Given the description of an element on the screen output the (x, y) to click on. 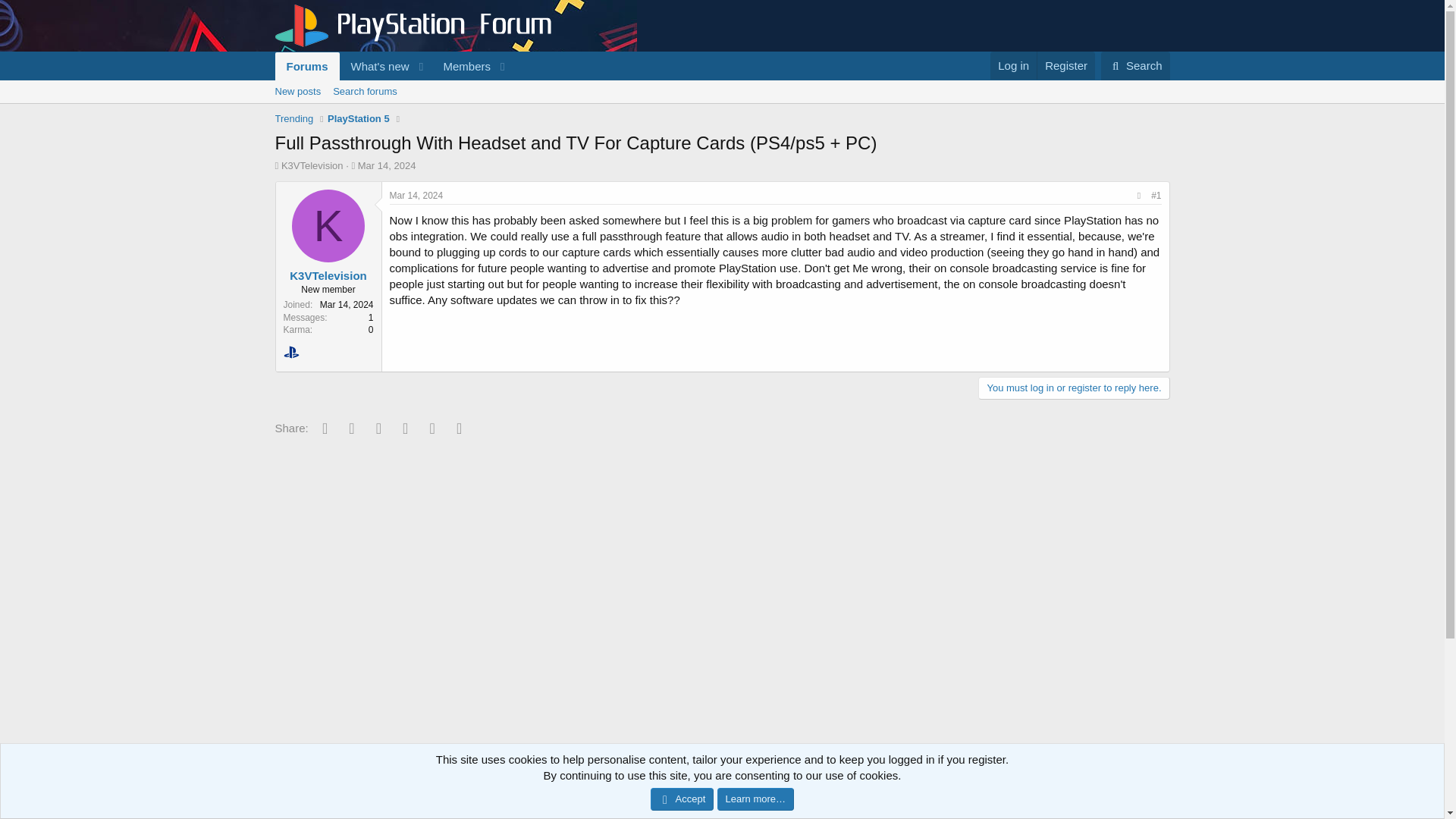
K3VTelevision (327, 275)
Mar 14, 2024 at 7:41 AM (417, 195)
Search forums (364, 91)
Log in (392, 66)
Members (1013, 65)
Search (461, 66)
PlayStation 5 (1135, 65)
RSS (358, 118)
New posts (1161, 803)
